Given the description of an element on the screen output the (x, y) to click on. 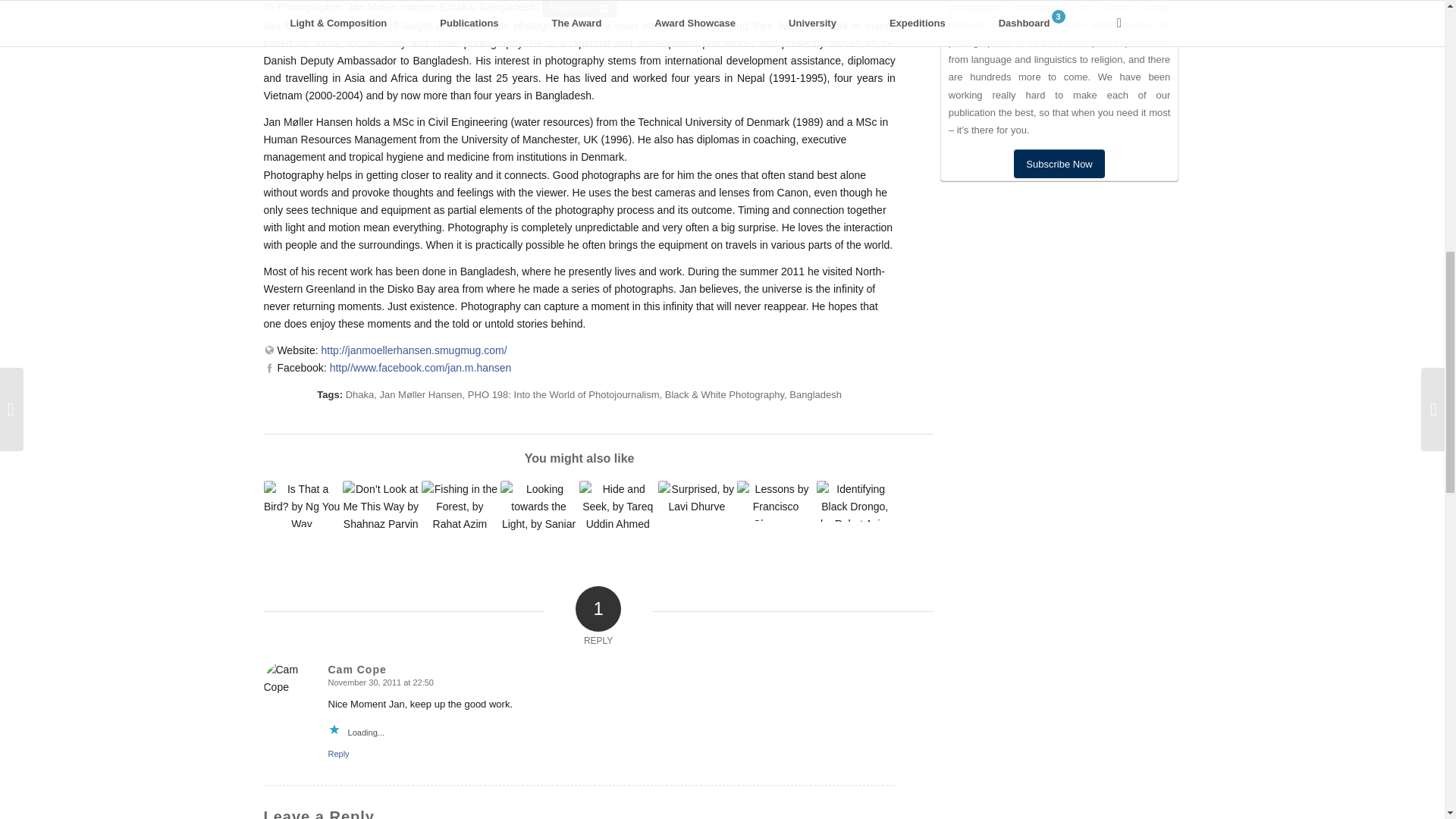
PHO 198: Into the World of Photojournalism (563, 394)
Click to Get Registered (578, 8)
Bangladesh (815, 394)
Registered (578, 8)
Is That a Bird? by Ng You Way (301, 503)
Dhaka (360, 394)
